Given the description of an element on the screen output the (x, y) to click on. 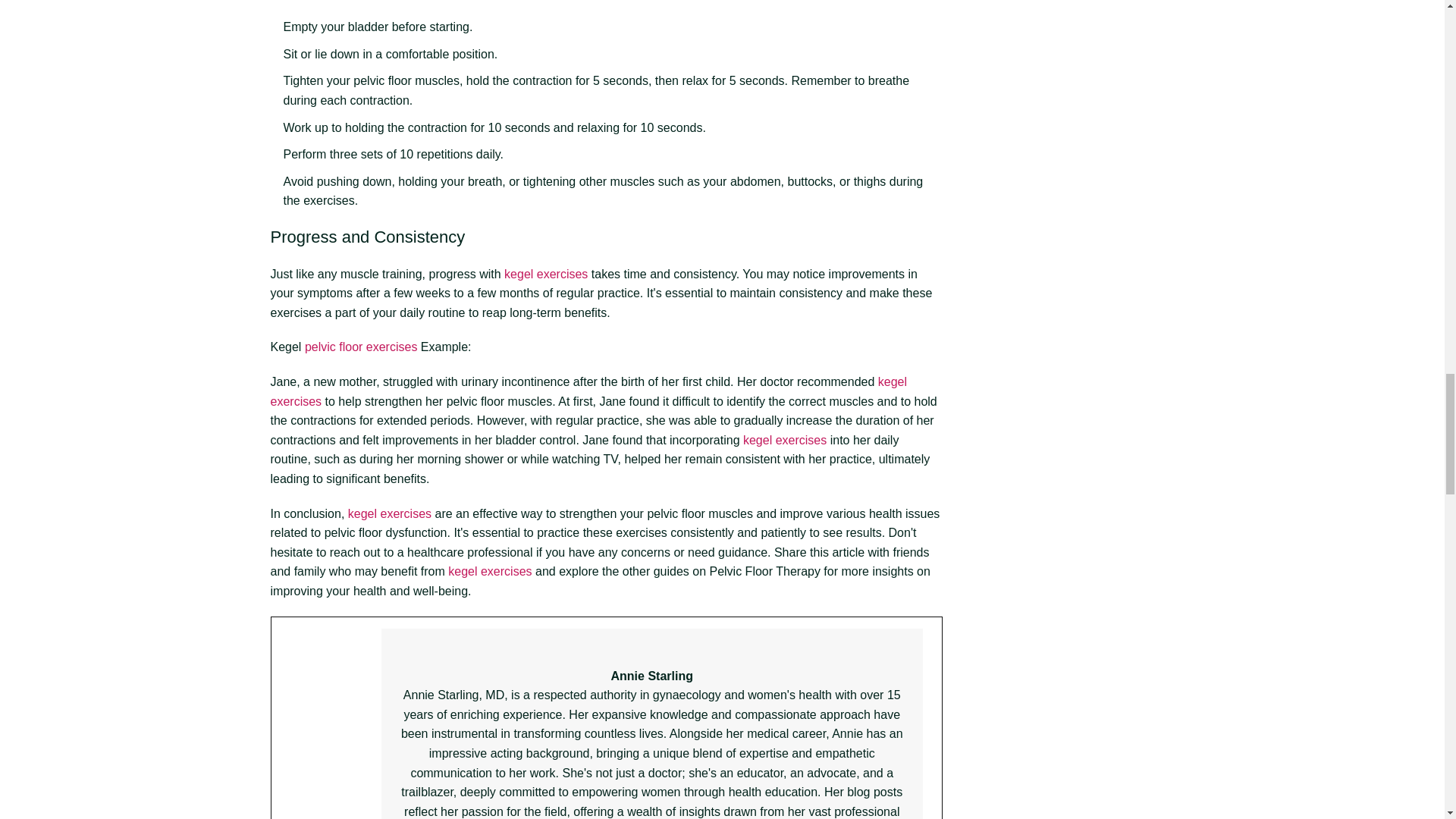
kegel exercises (588, 391)
kegel exercises (545, 273)
pelvic floor exercises (360, 346)
